Given the description of an element on the screen output the (x, y) to click on. 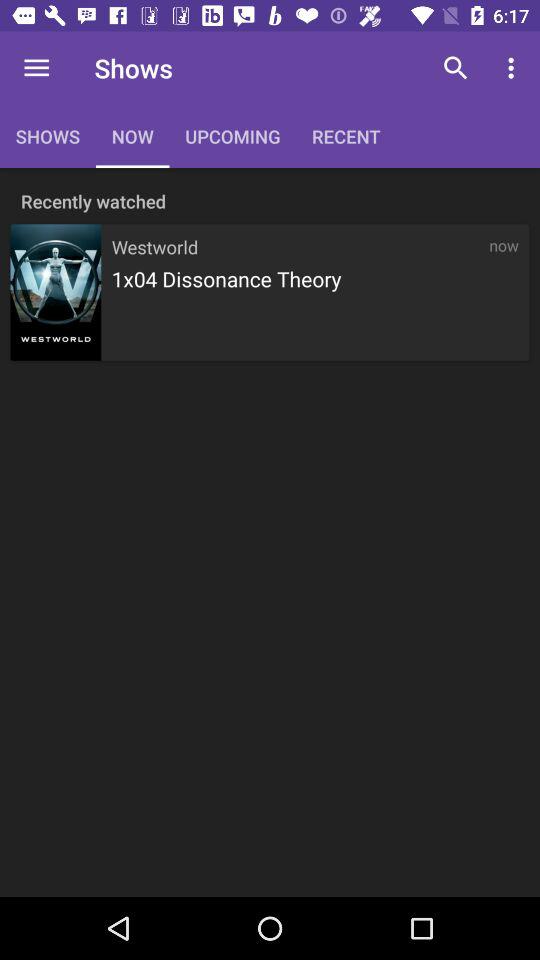
select the icon above now icon (455, 67)
